Given the description of an element on the screen output the (x, y) to click on. 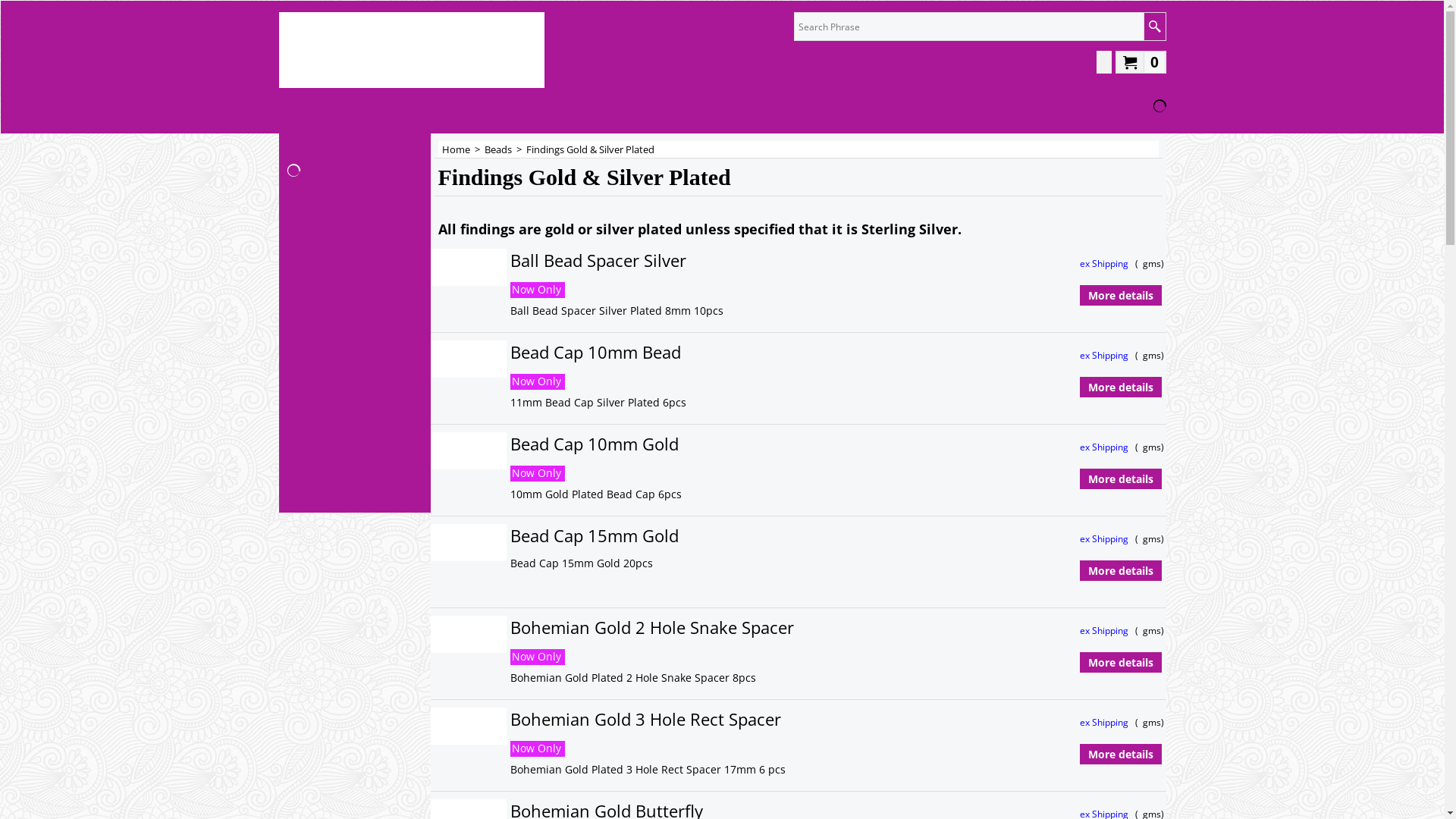
ex Shipping Element type: text (1104, 630)
More details Element type: text (1119, 570)
ex Shipping Element type: text (1104, 354)
More details Element type: text (1119, 295)
More details Element type: text (1119, 662)
Bohemian Gold 3 Hole Rect Spacer Element type: text (756, 719)
More details Element type: text (1119, 754)
Bead Cap 10mm Gold Element type: text (724, 443)
Bead Cap 15mm Gold Element type: text (722, 535)
Find Element type: hover (1154, 26)
Home  >  Element type: text (462, 149)
Ball Bead Spacer Silver Element type: text (739, 260)
More details Element type: text (1119, 387)
ex Shipping Element type: text (1104, 446)
0 Element type: text (1139, 61)
ex Shipping Element type: text (1104, 538)
Bohemian Gold 2 Hole Snake Spacer Element type: text (758, 627)
More details Element type: text (1119, 479)
Bead Cap 10mm Bead Element type: text (726, 352)
Beads  >  Element type: text (504, 149)
ex Shipping Element type: text (1104, 721)
ex Shipping Element type: text (1104, 263)
